Given the description of an element on the screen output the (x, y) to click on. 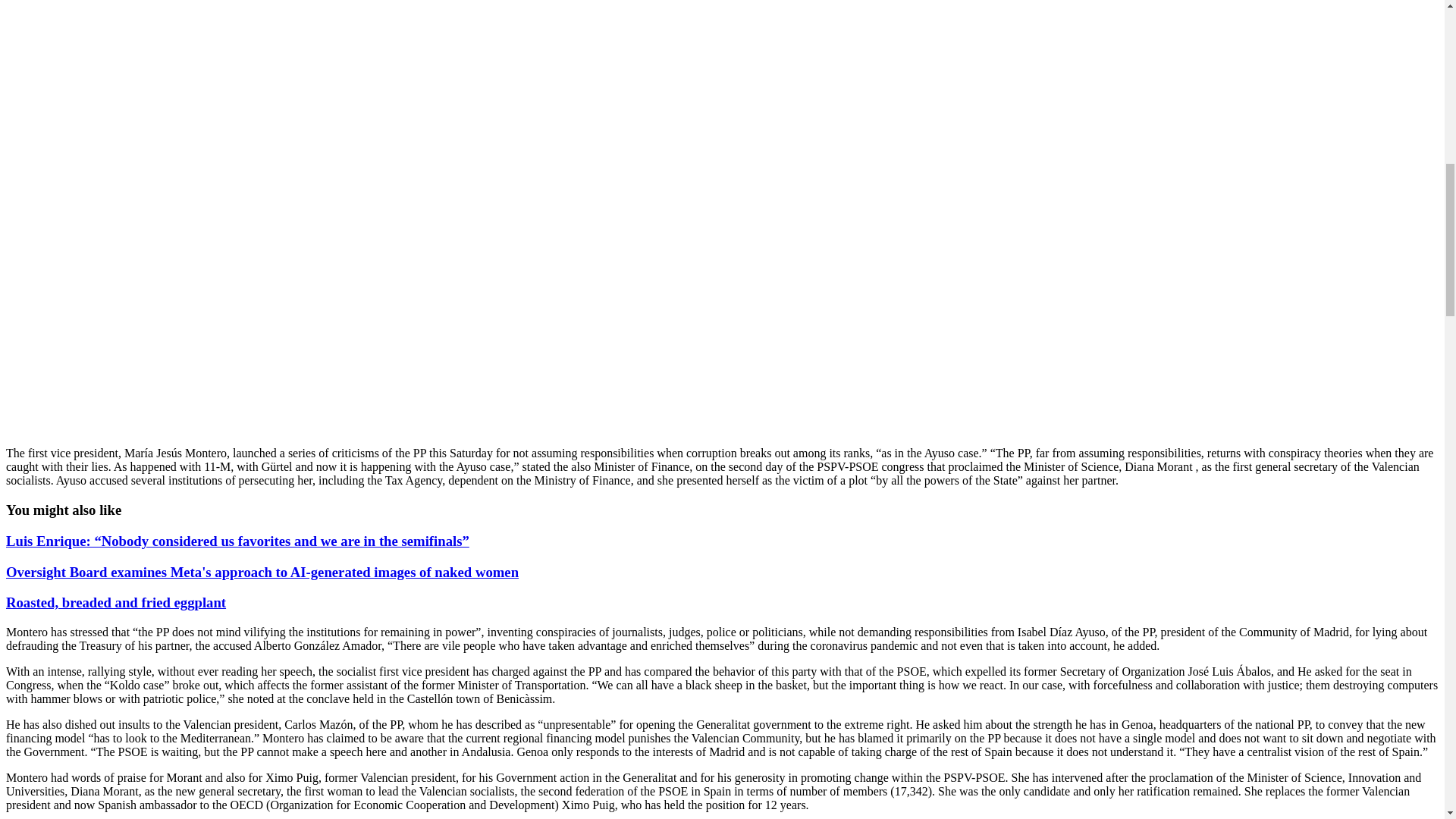
Roasted, breaded and fried eggplant (115, 602)
